Given the description of an element on the screen output the (x, y) to click on. 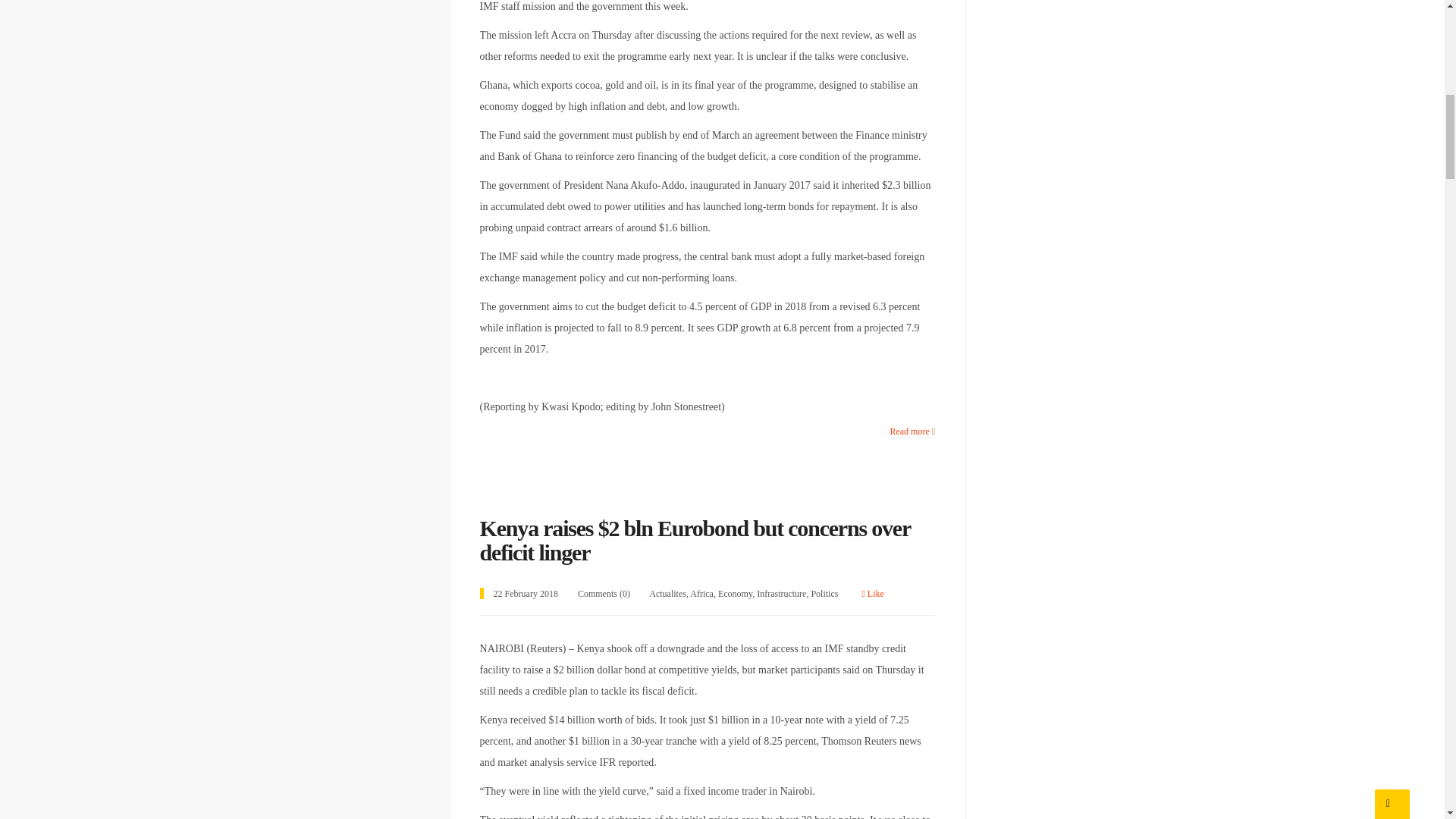
Infrastructure (781, 593)
Africa (701, 593)
 Like (872, 593)
Economy (734, 593)
Politics (824, 593)
Read more (911, 431)
Actualites (667, 593)
Like (872, 593)
